Given the description of an element on the screen output the (x, y) to click on. 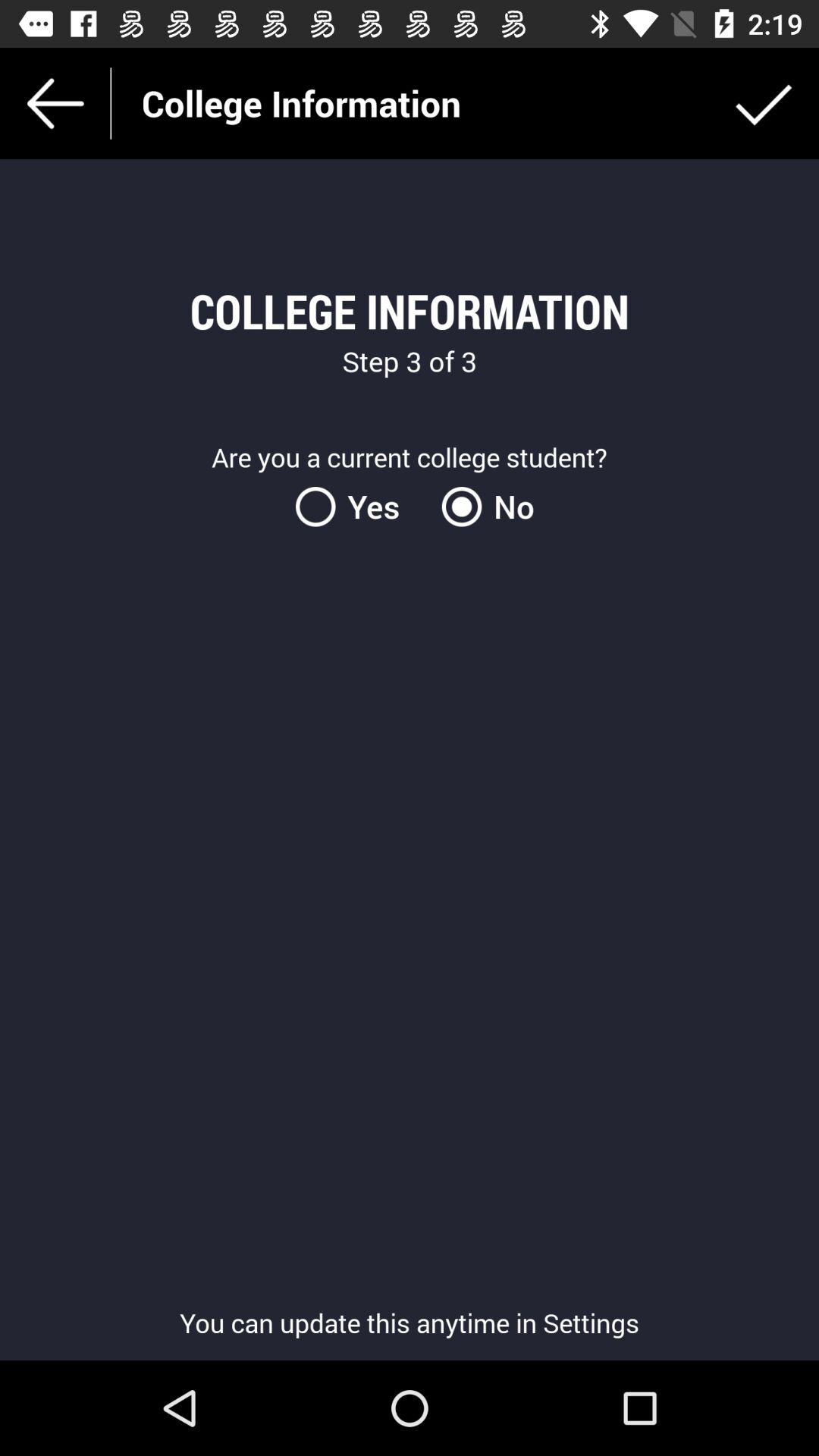
jump to no item (481, 506)
